Given the description of an element on the screen output the (x, y) to click on. 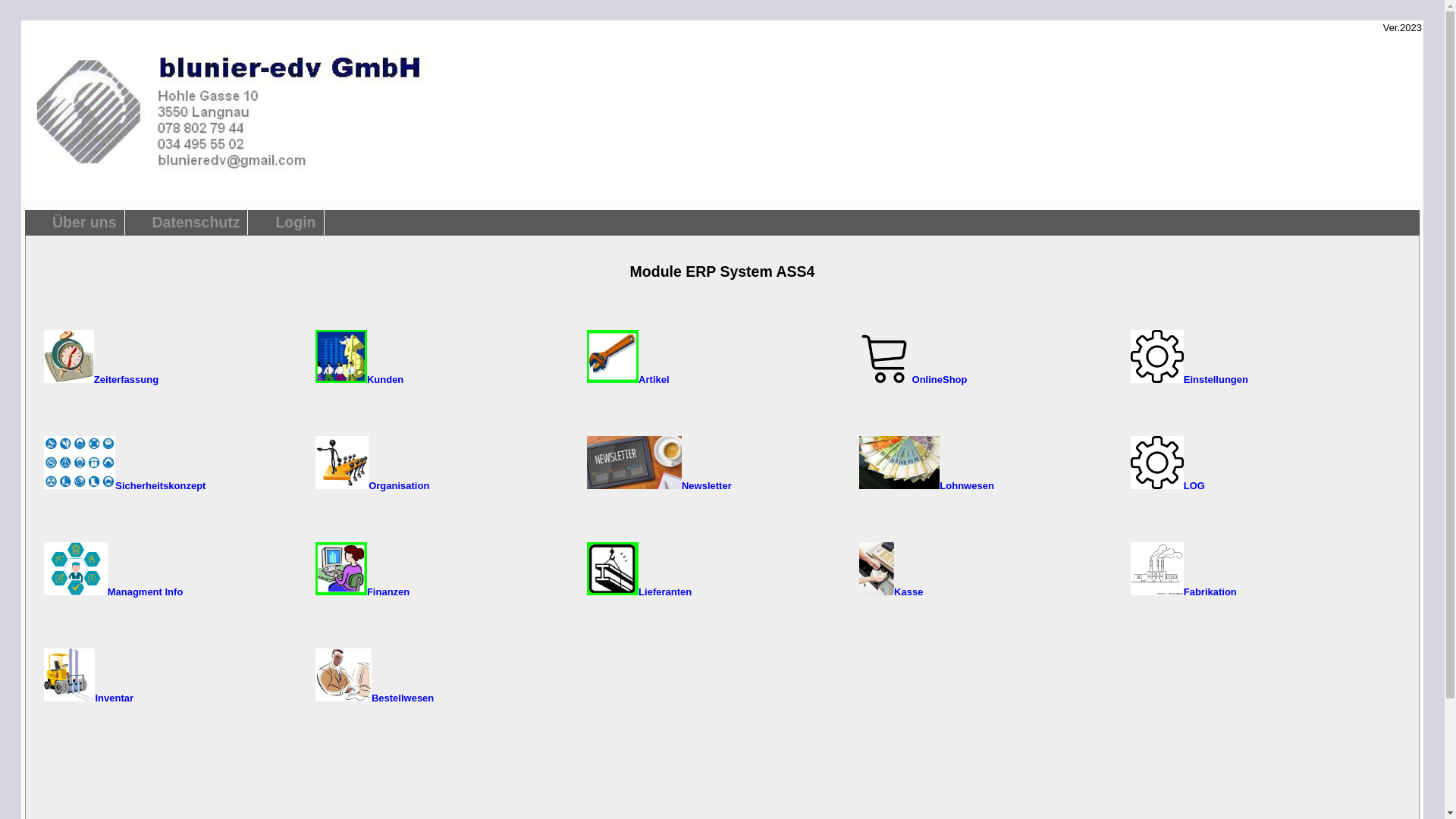
Artikel Element type: text (627, 379)
Sicherheitskonzept Element type: text (124, 485)
Zeiterfassung Element type: text (100, 379)
Einstellungen Element type: text (1189, 379)
Lieferanten Element type: text (638, 591)
LOG Element type: text (1167, 485)
Managment Info Element type: text (112, 591)
Fabrikation Element type: text (1183, 591)
Newsletter Element type: text (658, 485)
OnlineShop Element type: text (913, 379)
Kasse Element type: text (891, 591)
Lohnwesen Element type: text (926, 485)
Datenschutz Element type: text (195, 222)
Finanzen Element type: text (362, 591)
Organisation Element type: text (372, 485)
Login Element type: text (295, 222)
Inventar Element type: text (88, 697)
Bestellwesen Element type: text (374, 697)
Kunden Element type: text (359, 379)
